Given the description of an element on the screen output the (x, y) to click on. 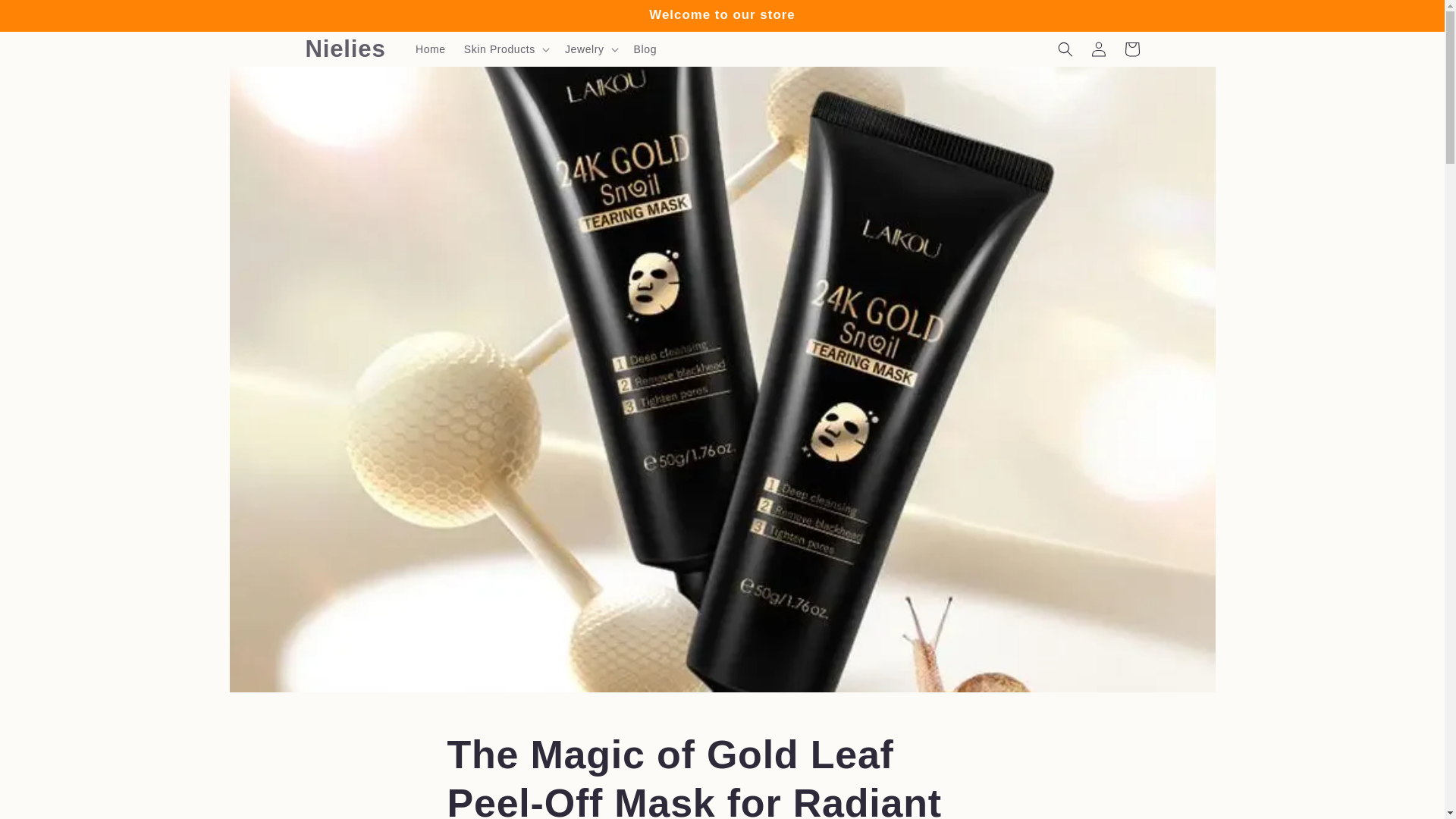
Nielies (345, 48)
Cart (1131, 49)
Home (430, 49)
Log in (1098, 49)
Blog (644, 49)
Skip to content (45, 17)
